Given the description of an element on the screen output the (x, y) to click on. 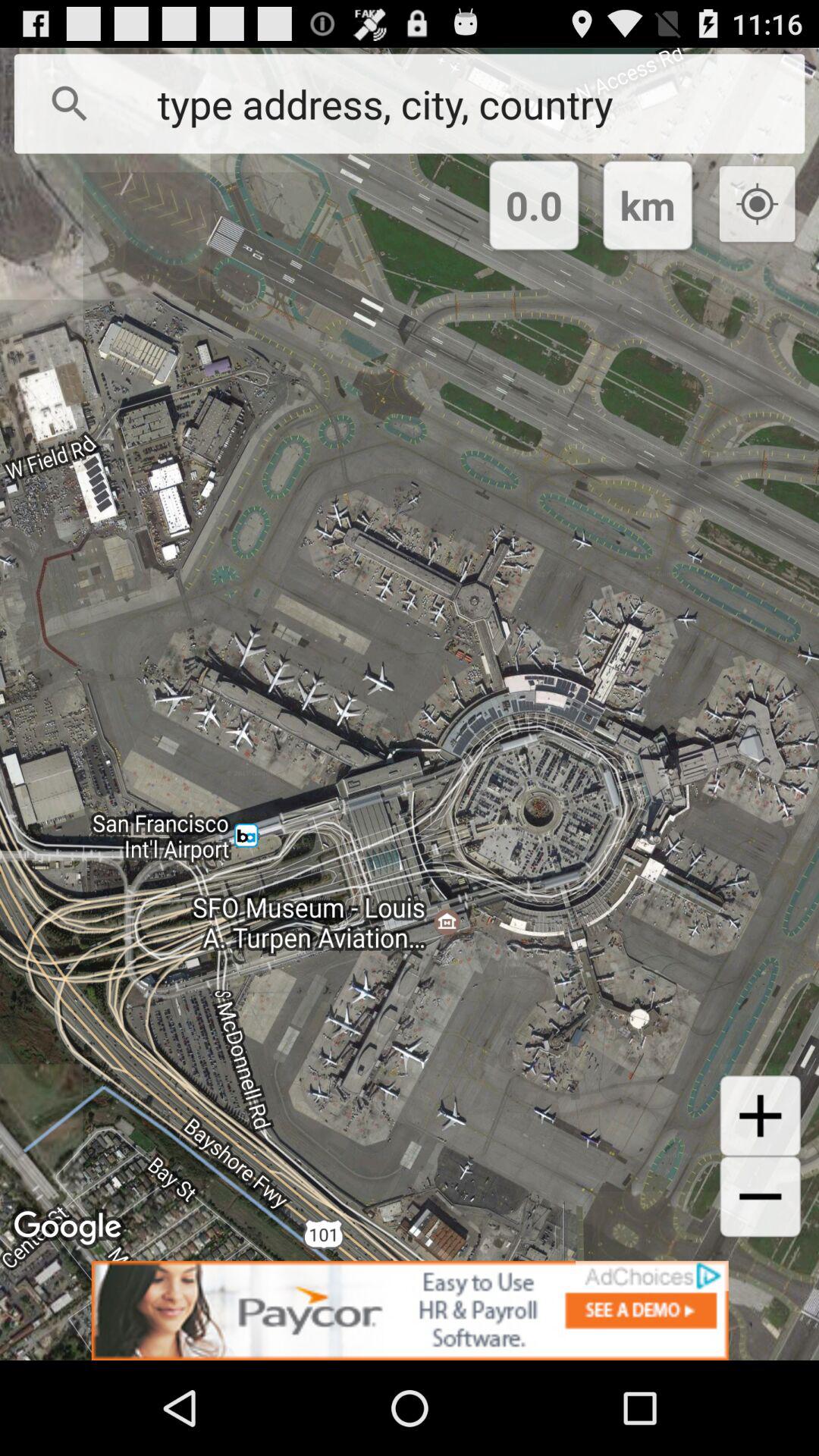
go to minus (760, 1196)
